Given the description of an element on the screen output the (x, y) to click on. 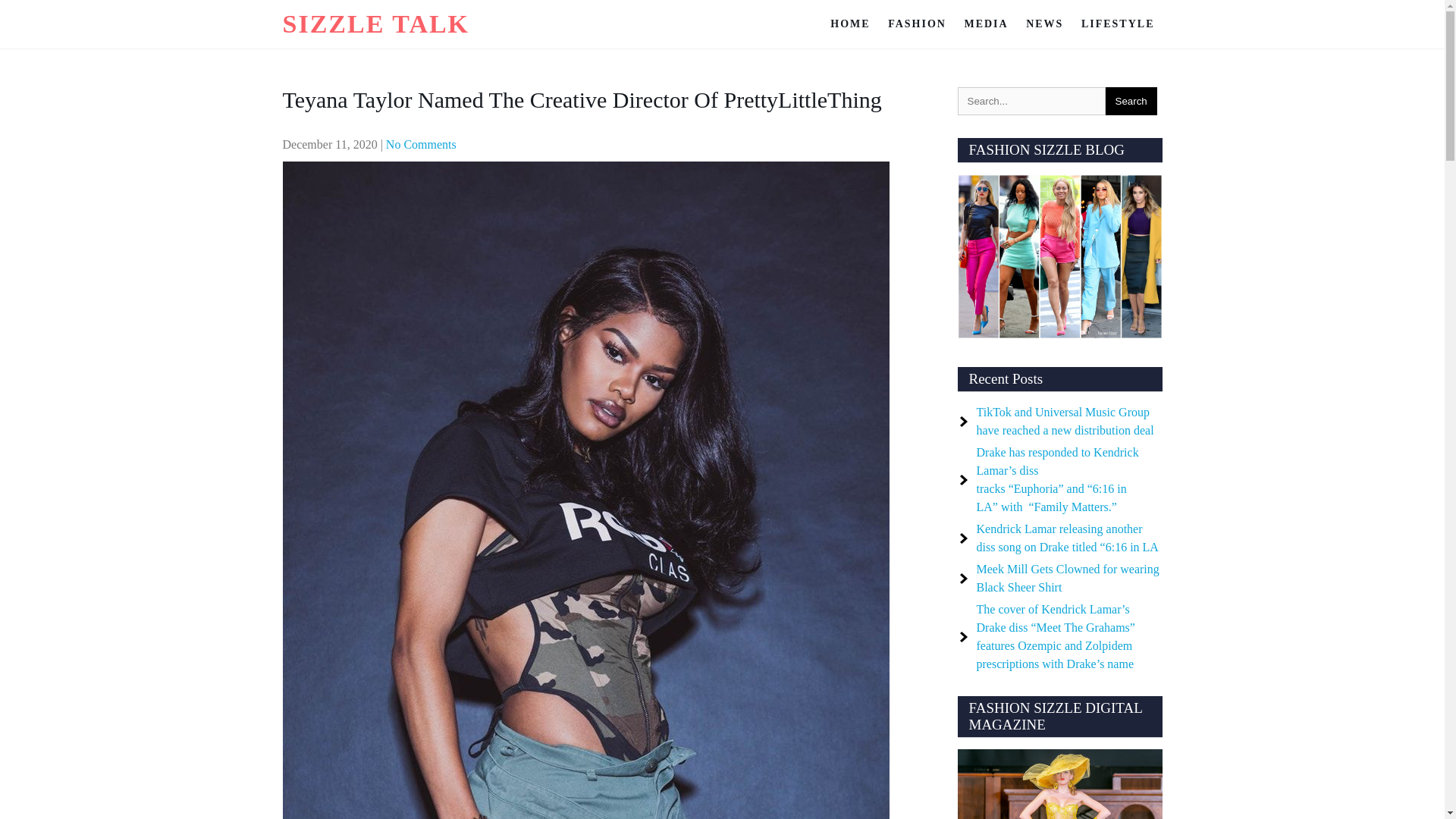
SIZZLE TALK (375, 23)
Search (1131, 100)
MEDIA (985, 24)
LIFESTYLE (1117, 24)
HOME (849, 24)
Search (1131, 100)
NEWS (1043, 24)
FASHION (916, 24)
No Comments (421, 144)
